Given the description of an element on the screen output the (x, y) to click on. 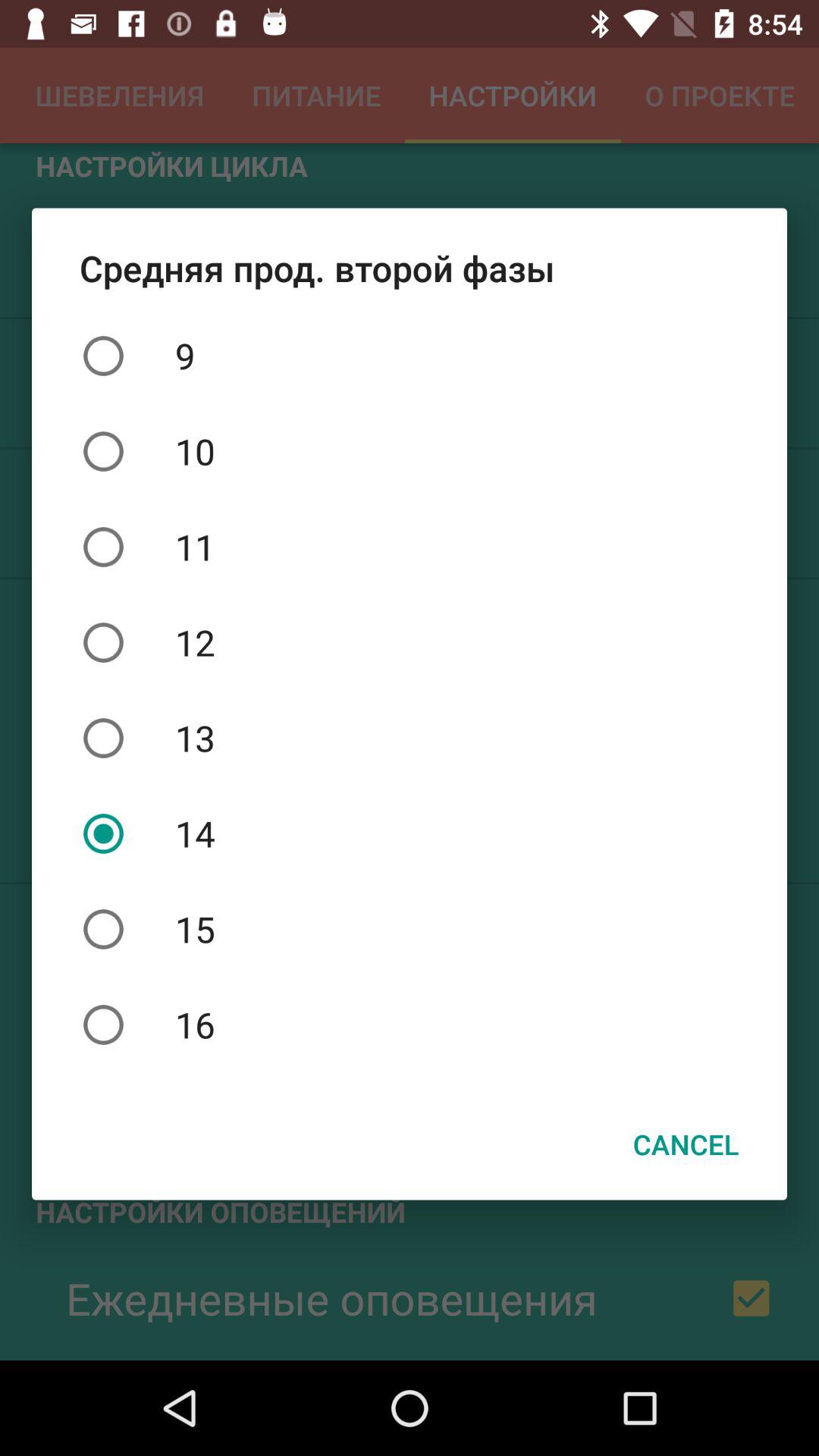
swipe until the 11 (409, 546)
